Given the description of an element on the screen output the (x, y) to click on. 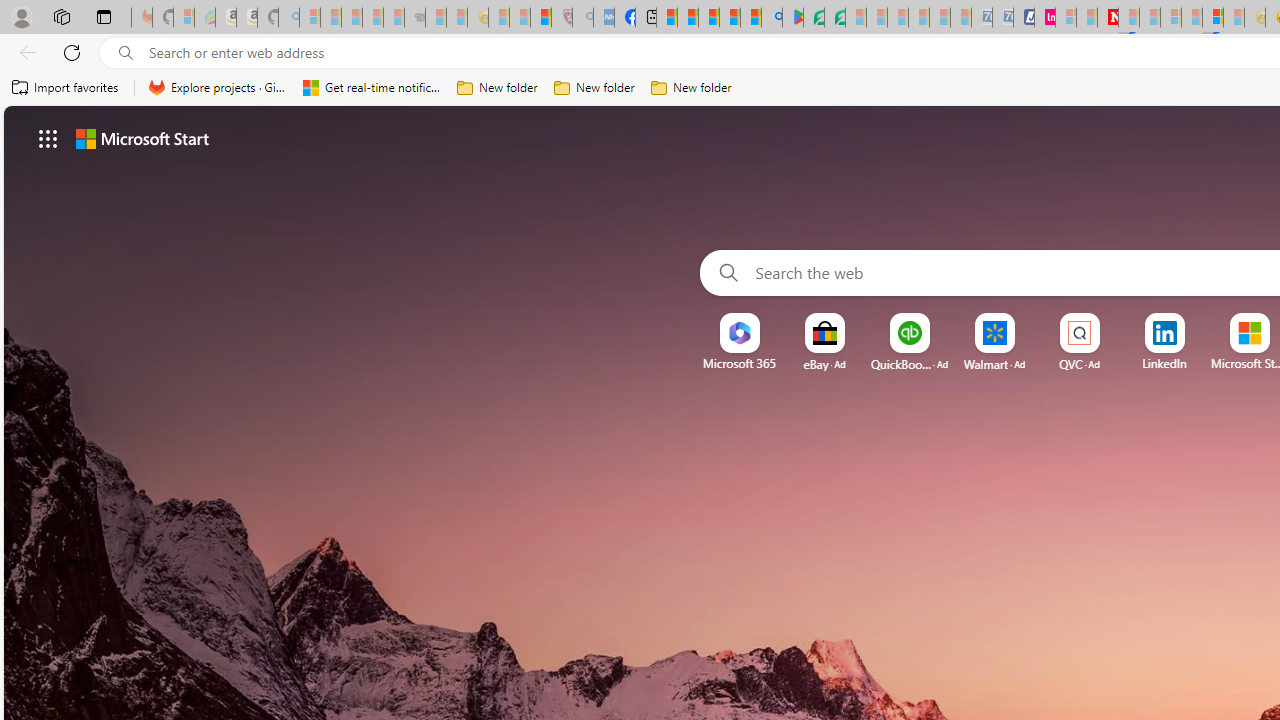
Local - MSN (541, 17)
Import favorites (65, 88)
